Given the description of an element on the screen output the (x, y) to click on. 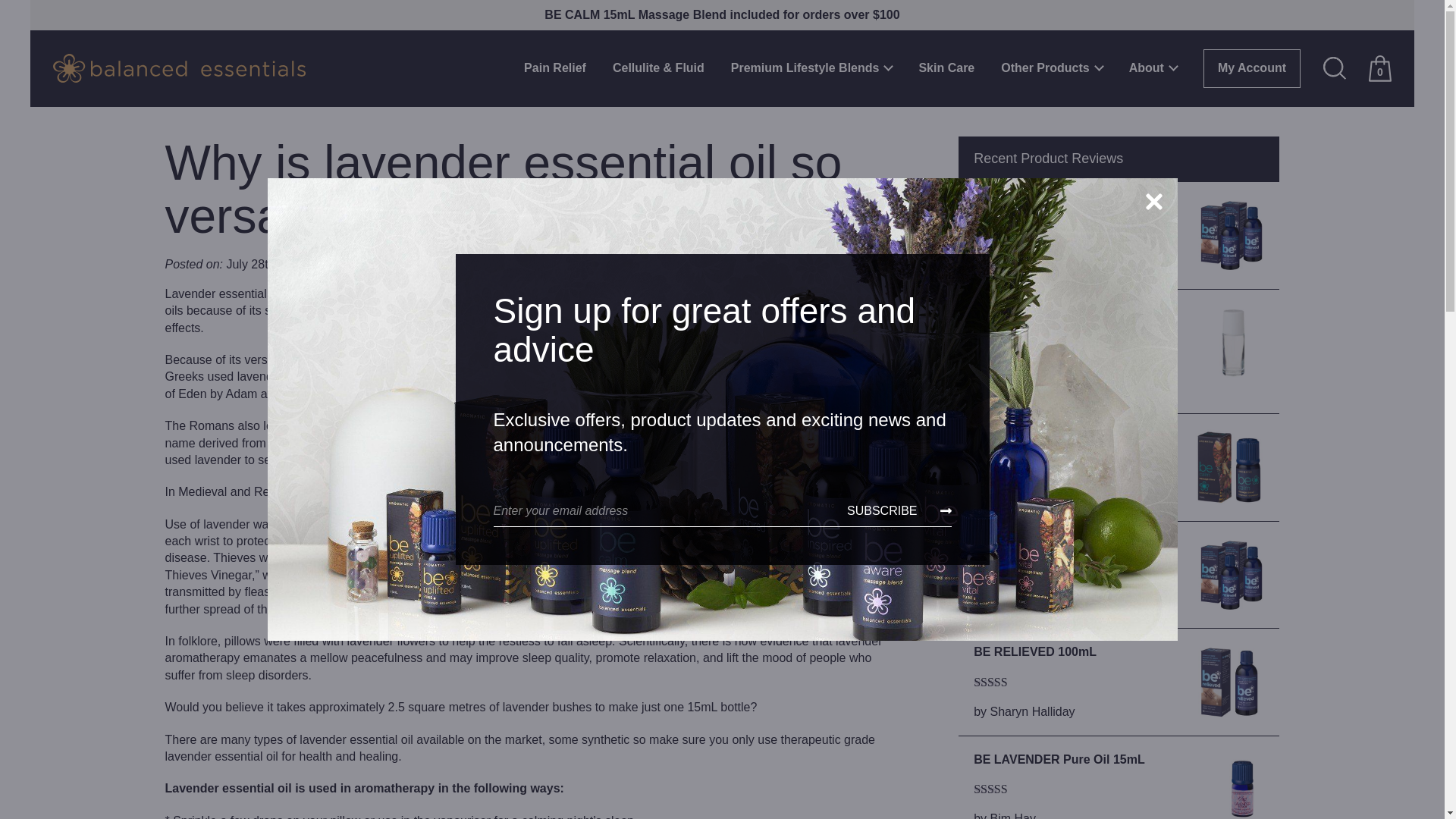
BE CALM Massage Blend 15mL (1118, 437)
Premium Lifestyle Blends (811, 67)
BE LAVENDER Pure Oil 15mL (1118, 759)
Open Search (1334, 67)
My Account (1252, 68)
RELIEVED Twin Pack (1118, 545)
Other Products (1051, 67)
About (1152, 67)
Pain Relief (555, 67)
RELIEVED Twin Pack (1118, 205)
BE RELIEVED 100mL (1118, 651)
Skin Care (946, 67)
